Given the description of an element on the screen output the (x, y) to click on. 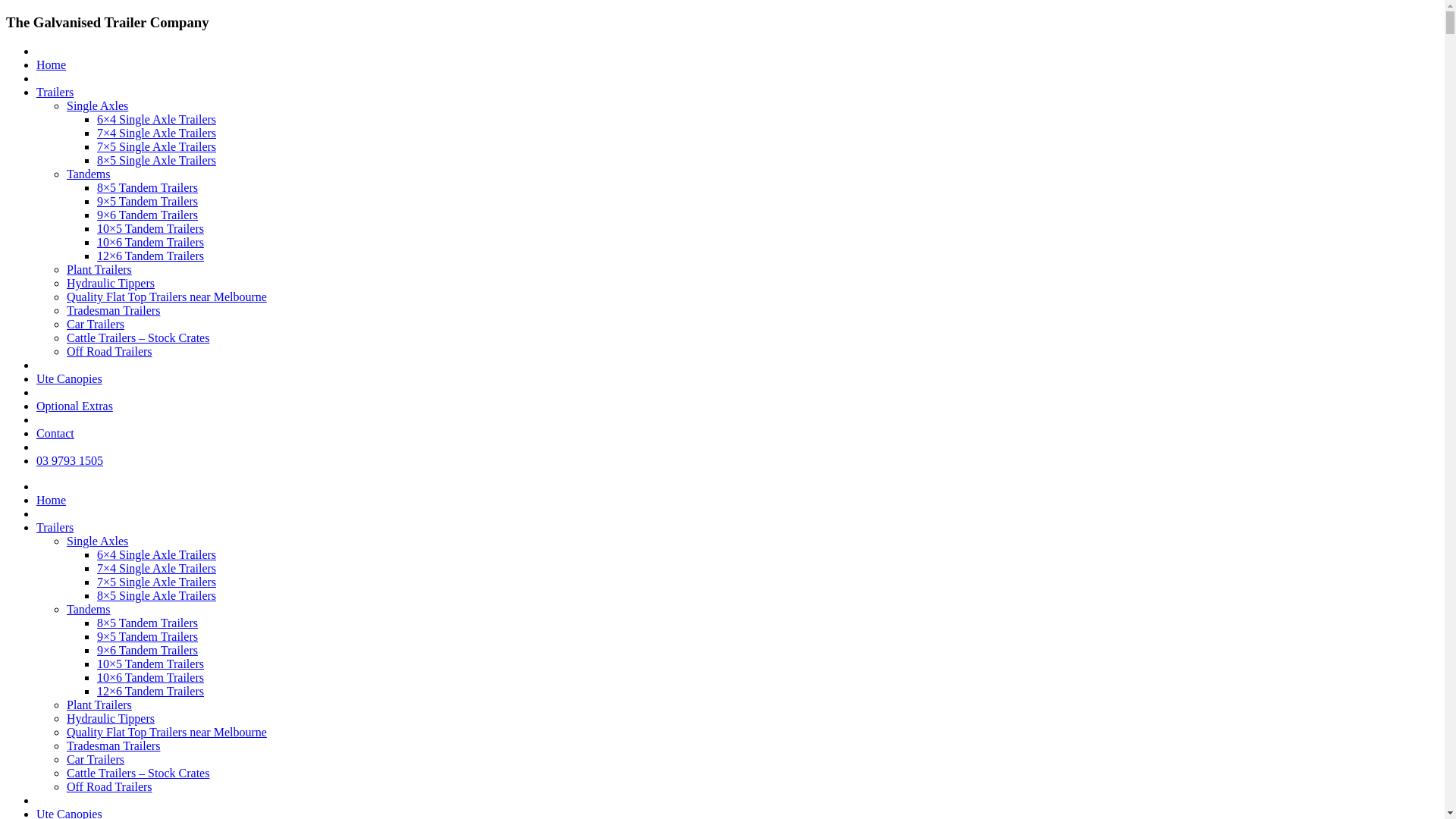
Plant Trailers Element type: text (98, 704)
Car Trailers Element type: text (95, 759)
Quality Flat Top Trailers near Melbourne Element type: text (166, 296)
Tradesman Trailers Element type: text (113, 310)
Trailers Element type: text (54, 526)
Ute Canopies Element type: text (69, 378)
Contact Element type: text (55, 432)
Car Trailers Element type: text (95, 323)
Home Element type: text (50, 64)
Optional Extras Element type: text (74, 405)
Quality Flat Top Trailers near Melbourne Element type: text (166, 731)
Tandems Element type: text (88, 173)
Hydraulic Tippers Element type: text (110, 718)
Plant Trailers Element type: text (98, 269)
Single Axles Element type: text (97, 540)
Home Element type: text (50, 499)
Single Axles Element type: text (97, 105)
Off Road Trailers Element type: text (109, 351)
Tradesman Trailers Element type: text (113, 745)
Trailers Element type: text (54, 91)
03 9793 1505 Element type: text (69, 460)
Hydraulic Tippers Element type: text (110, 282)
Off Road Trailers Element type: text (109, 786)
Tandems Element type: text (88, 608)
